Given the description of an element on the screen output the (x, y) to click on. 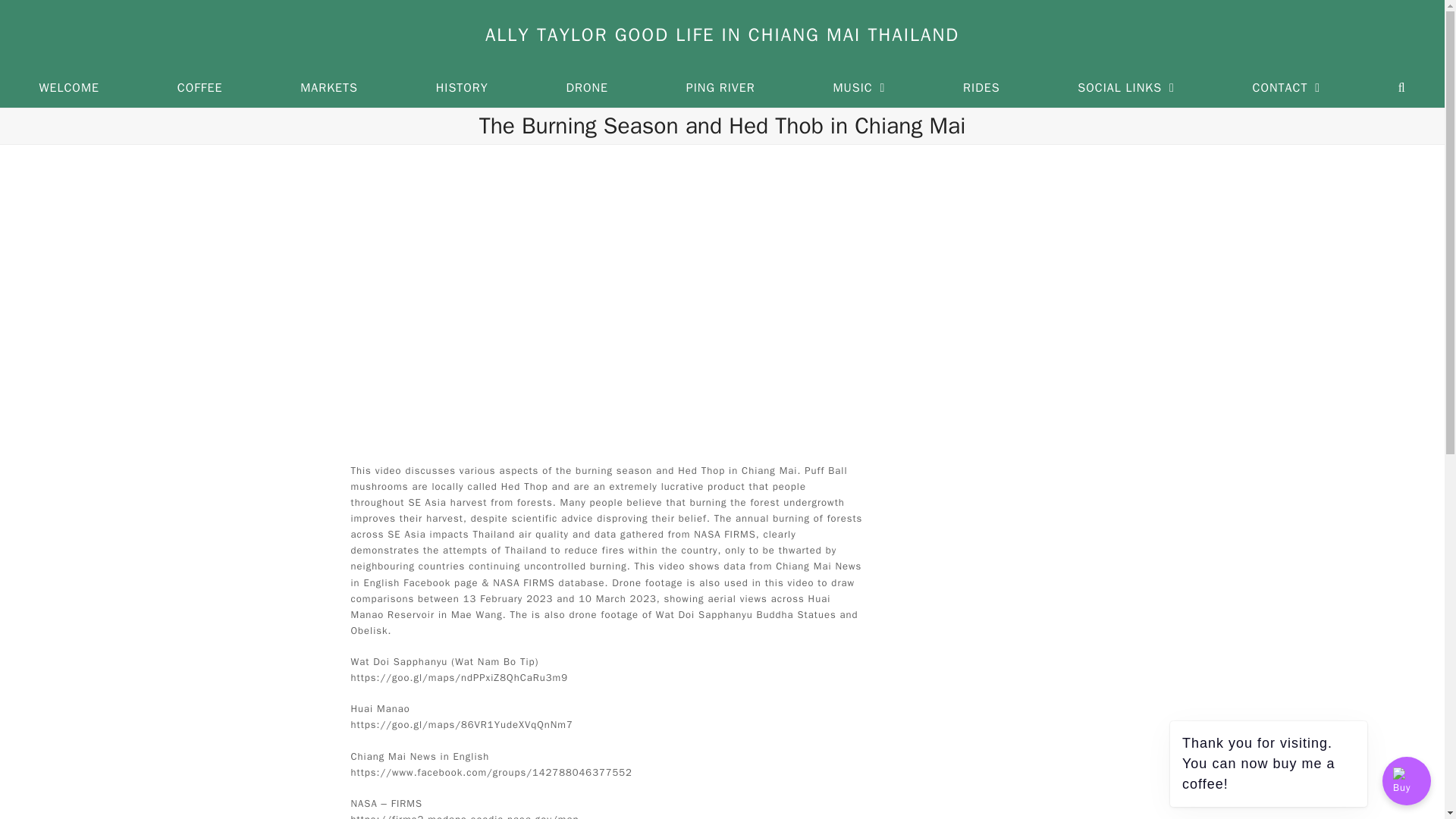
RIDES (981, 88)
MARKETS (329, 88)
HISTORY (461, 88)
PING RIVER (719, 88)
CONTACT (1285, 88)
MUSIC (858, 88)
DRONE (586, 88)
WELCOME (69, 88)
ALLY TAYLOR GOOD LIFE IN CHIANG MAI THAILAND (721, 34)
COFFEE (199, 88)
SOCIAL LINKS (1125, 88)
